Given the description of an element on the screen output the (x, y) to click on. 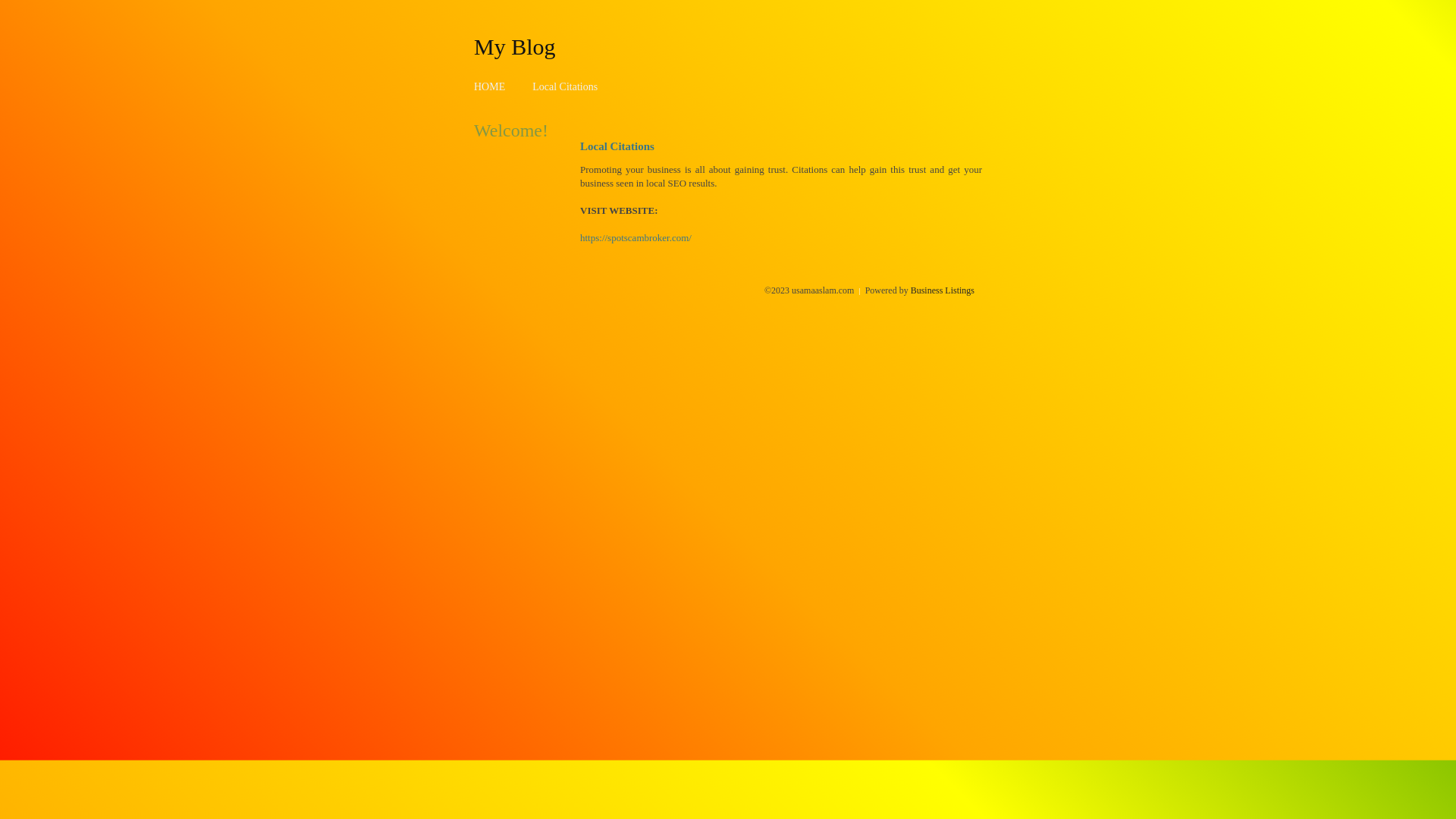
My Blog Element type: text (514, 46)
Business Listings Element type: text (942, 290)
HOME Element type: text (489, 86)
Local Citations Element type: text (564, 86)
https://spotscambroker.com/ Element type: text (635, 237)
